Given the description of an element on the screen output the (x, y) to click on. 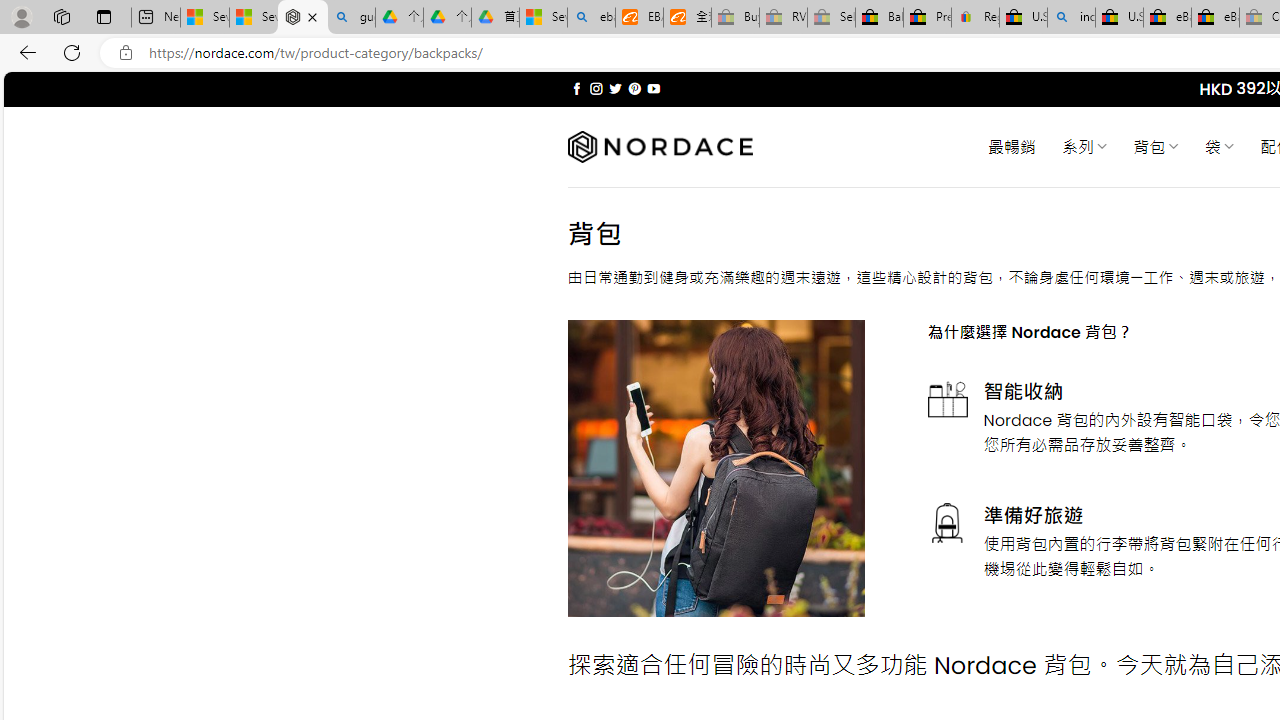
including - Search (1071, 17)
U.S. State Privacy Disclosures - eBay Inc. (1119, 17)
Buy Auto Parts & Accessories | eBay - Sleeping (735, 17)
eBay Inc. Reports Third Quarter 2023 Results (1215, 17)
Register: Create a personal eBay account (975, 17)
